Given the description of an element on the screen output the (x, y) to click on. 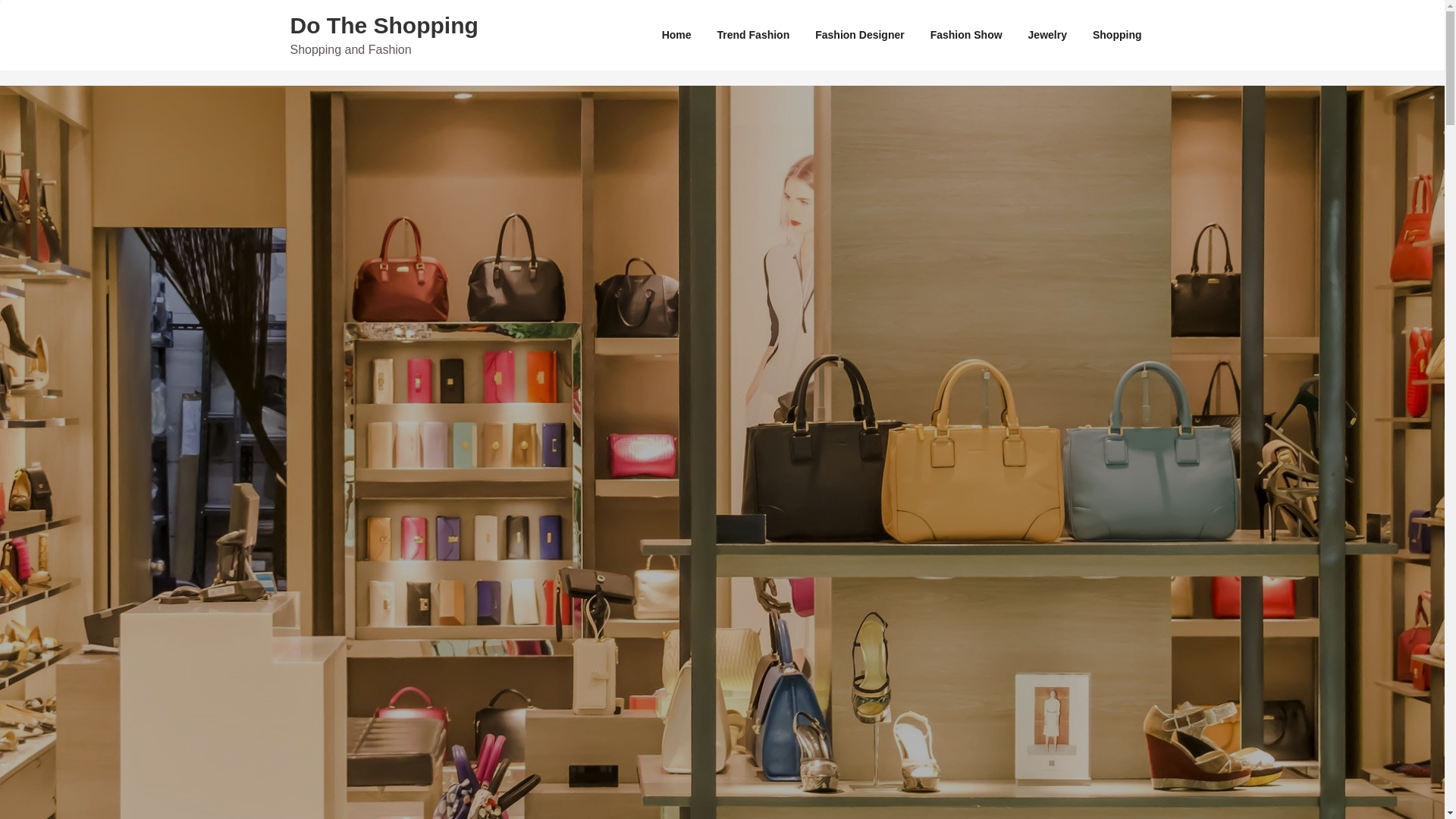
Jewelry (1047, 34)
Do The Shopping (383, 25)
Trend Fashion (753, 34)
Fashion Designer (859, 34)
Shopping (1117, 34)
Fashion Show (965, 34)
